Given the description of an element on the screen output the (x, y) to click on. 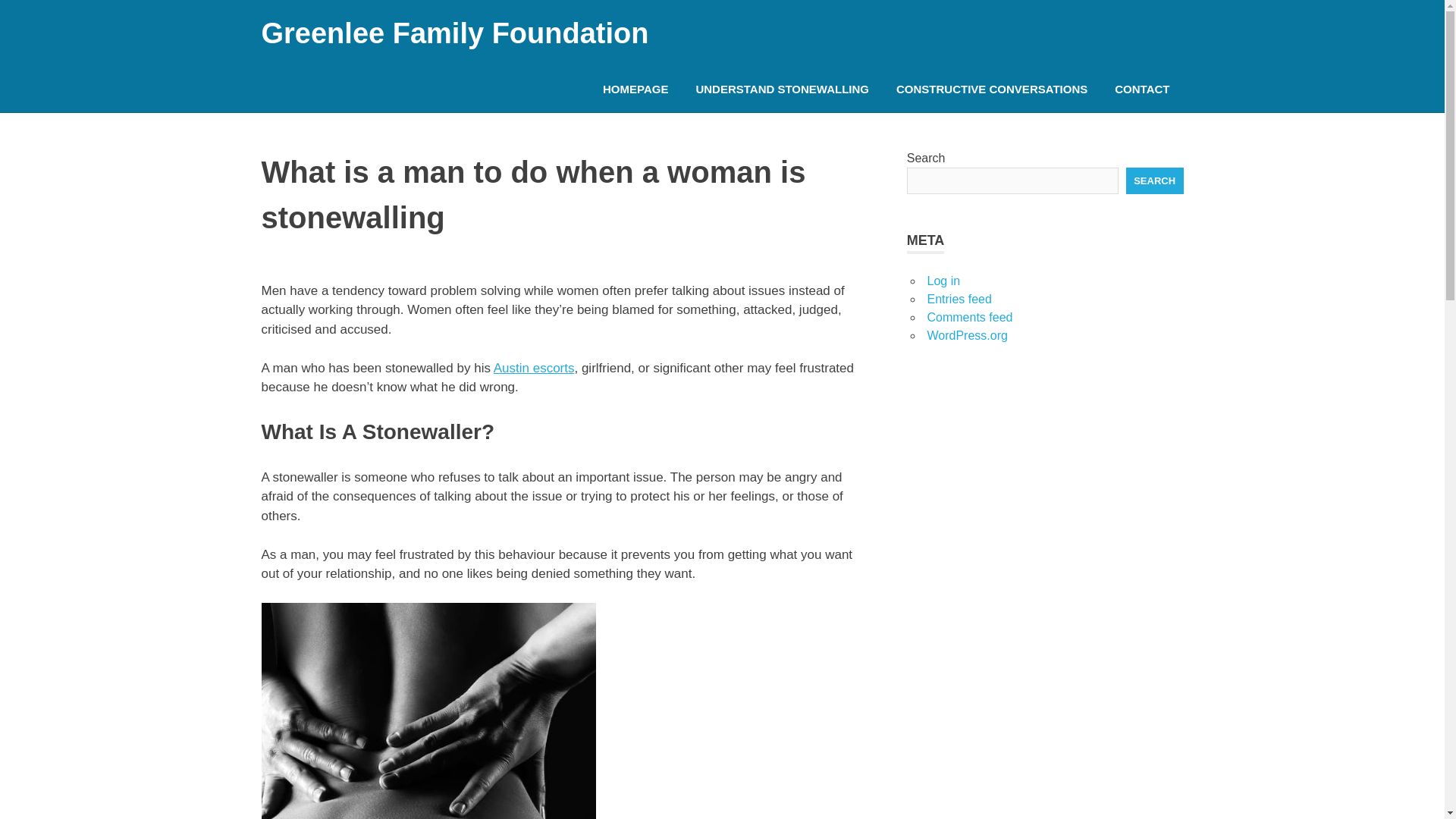
Log in (942, 280)
Austin escorts (534, 368)
CONTACT (1141, 89)
CONSTRUCTIVE CONVERSATIONS (991, 89)
HOMEPAGE (635, 89)
Entries feed (958, 298)
UNDERSTAND STONEWALLING (781, 89)
SEARCH (1154, 180)
Would you benefit from seeing an Escorts? (1045, 484)
Comments feed (968, 317)
WordPress.org (966, 335)
Greenlee Family Foundation (453, 33)
